Given the description of an element on the screen output the (x, y) to click on. 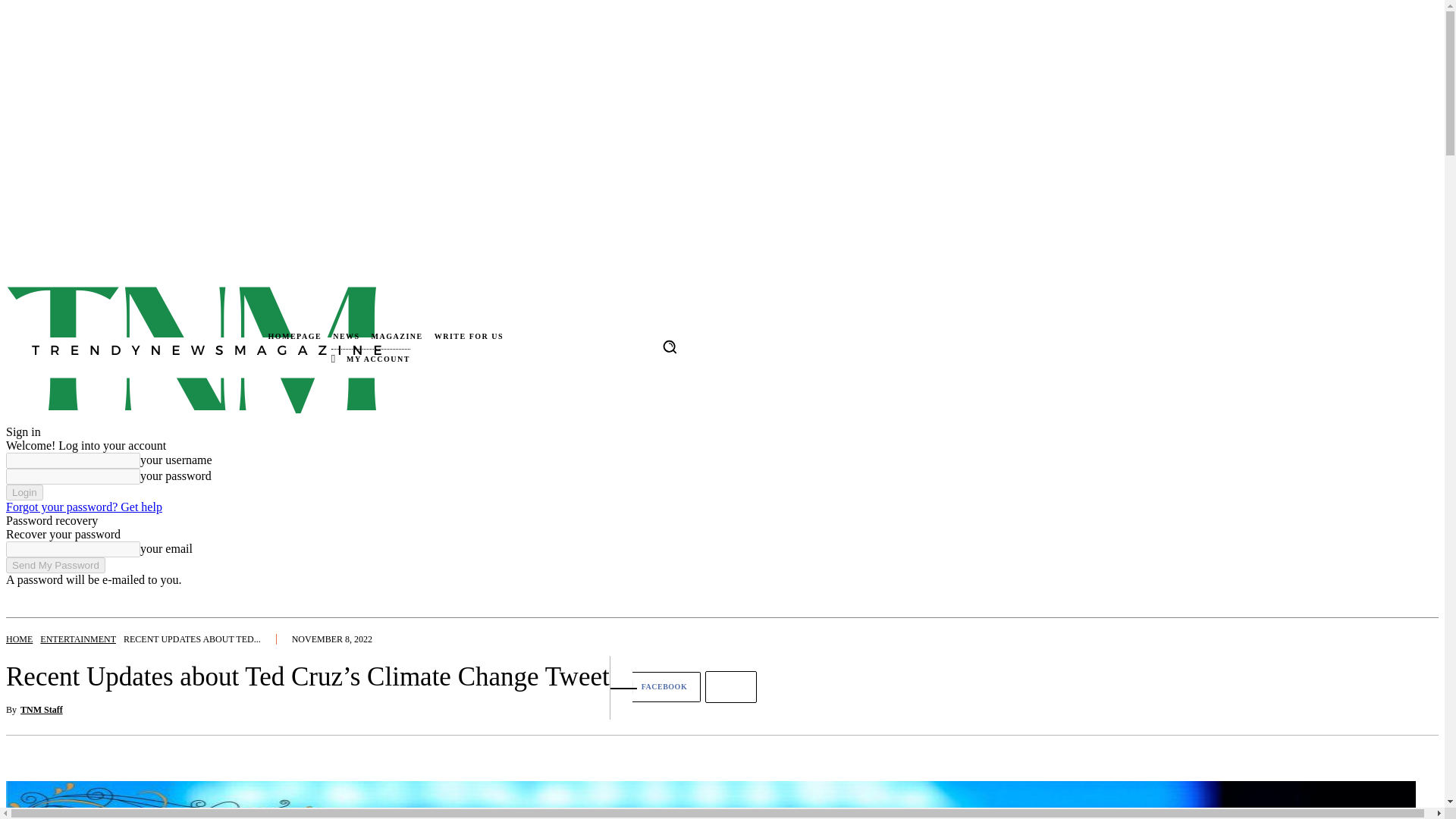
FACEBOOK (655, 686)
HOMEPAGE (294, 336)
View all posts in Entertainment (78, 638)
Send My Password (54, 565)
Login (24, 492)
Facebook (655, 686)
More (730, 686)
MAGAZINE (397, 336)
NEWS (346, 336)
WRITE FOR US (468, 336)
